Given the description of an element on the screen output the (x, y) to click on. 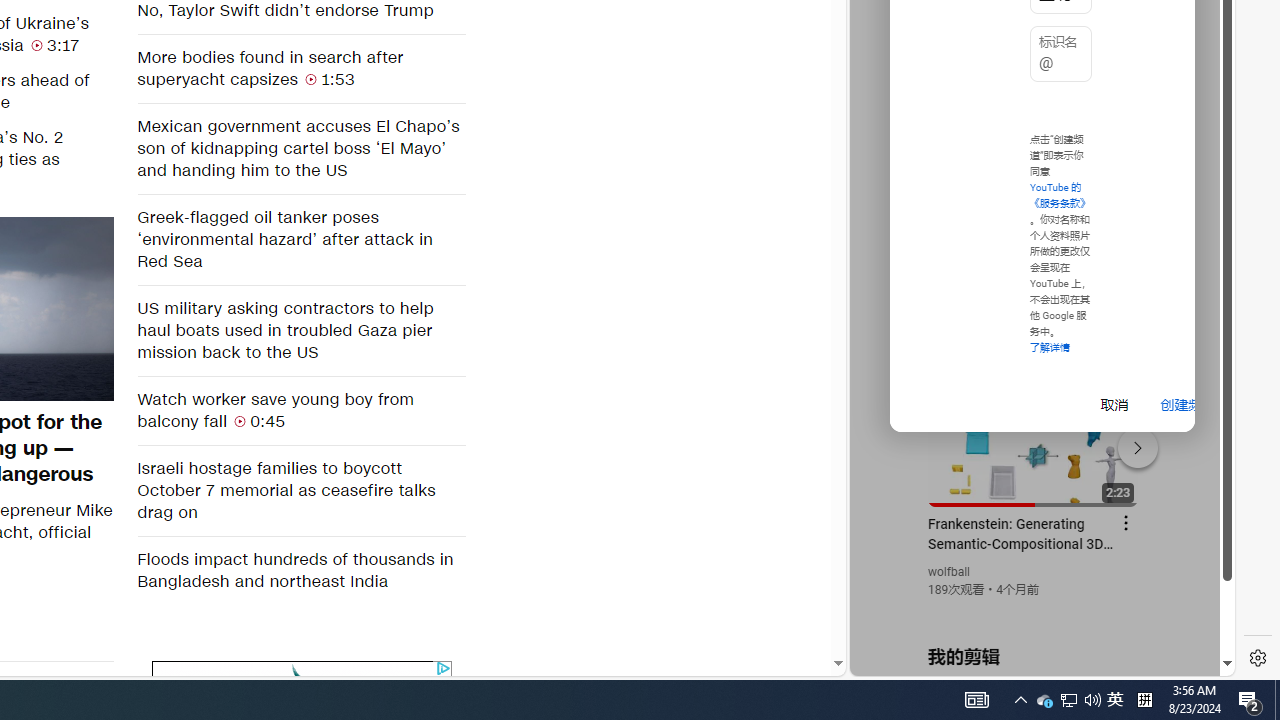
Show desktop (1277, 699)
YouTube (1034, 432)
wolfball (949, 572)
User Promoted Notification Area (1068, 699)
you (1115, 699)
More bodies found in search after superyacht capsizes 1:53 (1034, 609)
